Given the description of an element on the screen output the (x, y) to click on. 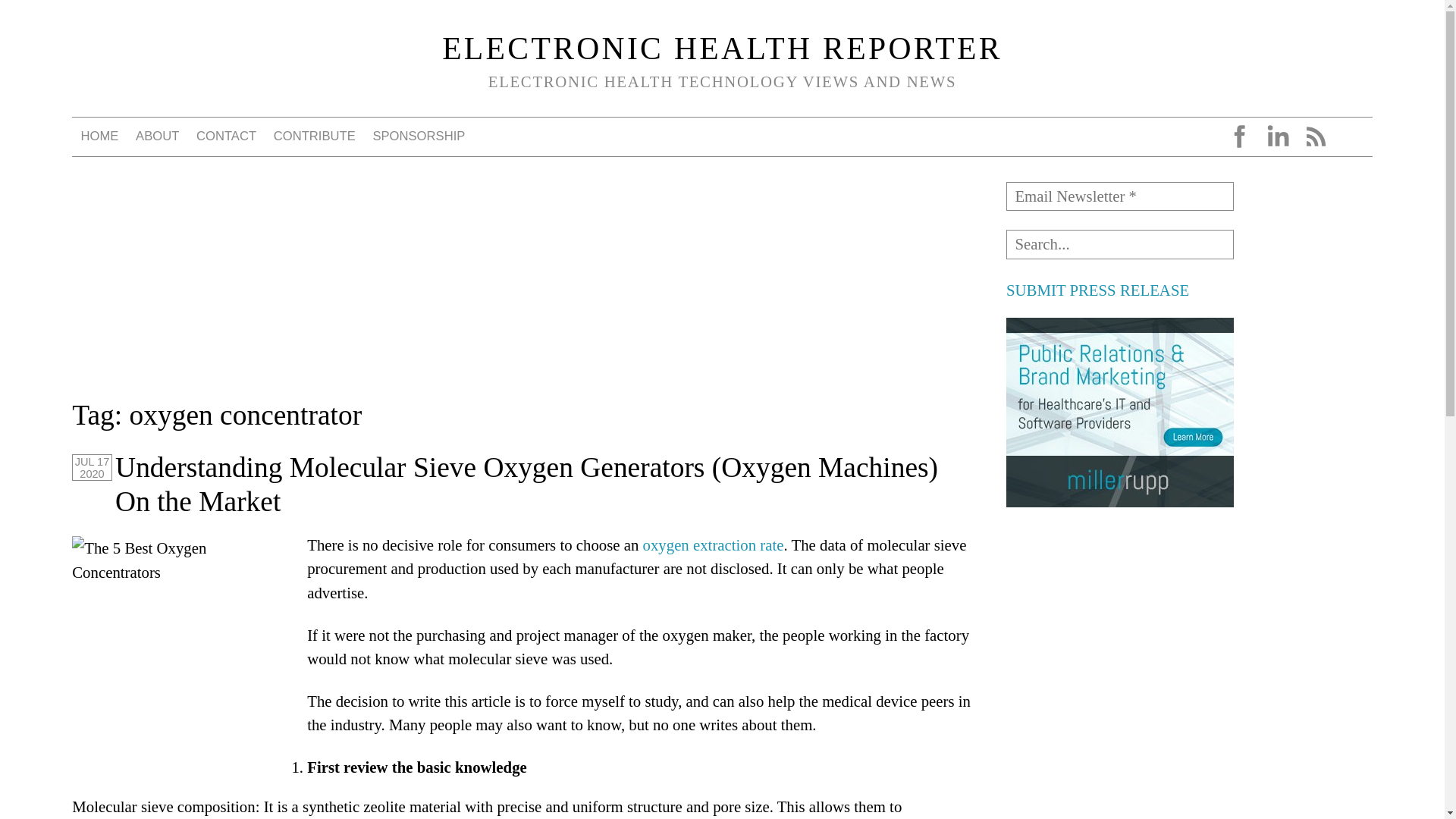
RSS FEED (1315, 136)
CONTACT (226, 136)
Advertisement (1119, 624)
LINKEDIN (1277, 136)
SUBMIT PRESS RELEASE (1097, 289)
Email Newsletter (1119, 195)
ELECTRONIC HEALTH REPORTER (722, 48)
FACEBOOK (1239, 136)
CONTRIBUTE (313, 136)
